Given the description of an element on the screen output the (x, y) to click on. 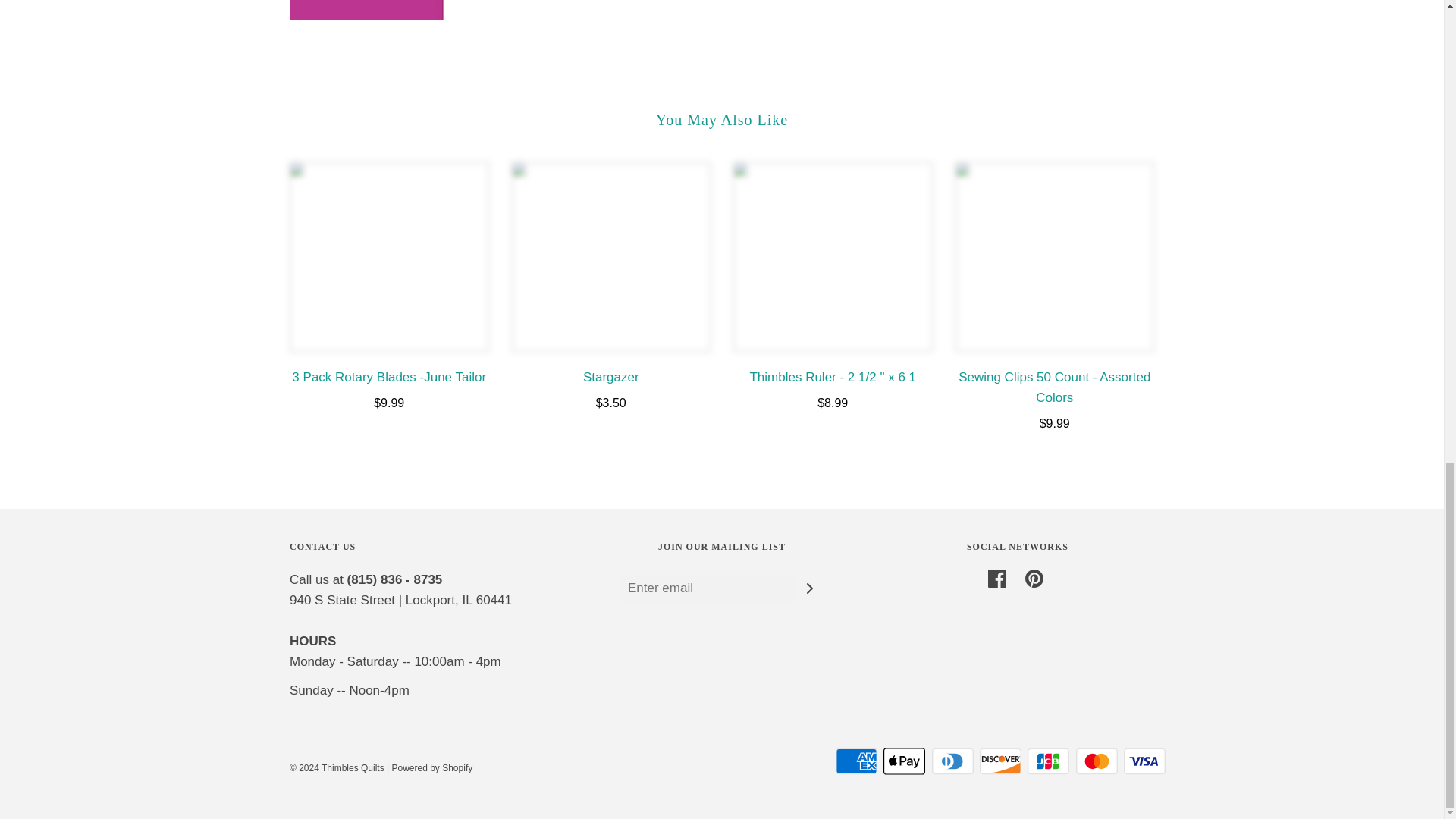
Stargazer (610, 257)
Facebook icon (997, 578)
Discover (1000, 761)
Pinterest icon (1034, 578)
JCB (1047, 761)
Diners Club (952, 761)
3 Pack Rotary Blades -June Tailor (389, 257)
Sewing Clips 50 Count - Assorted Colors (1054, 257)
American Express (856, 761)
Mastercard (1096, 761)
Apple Pay (903, 761)
